Given the description of an element on the screen output the (x, y) to click on. 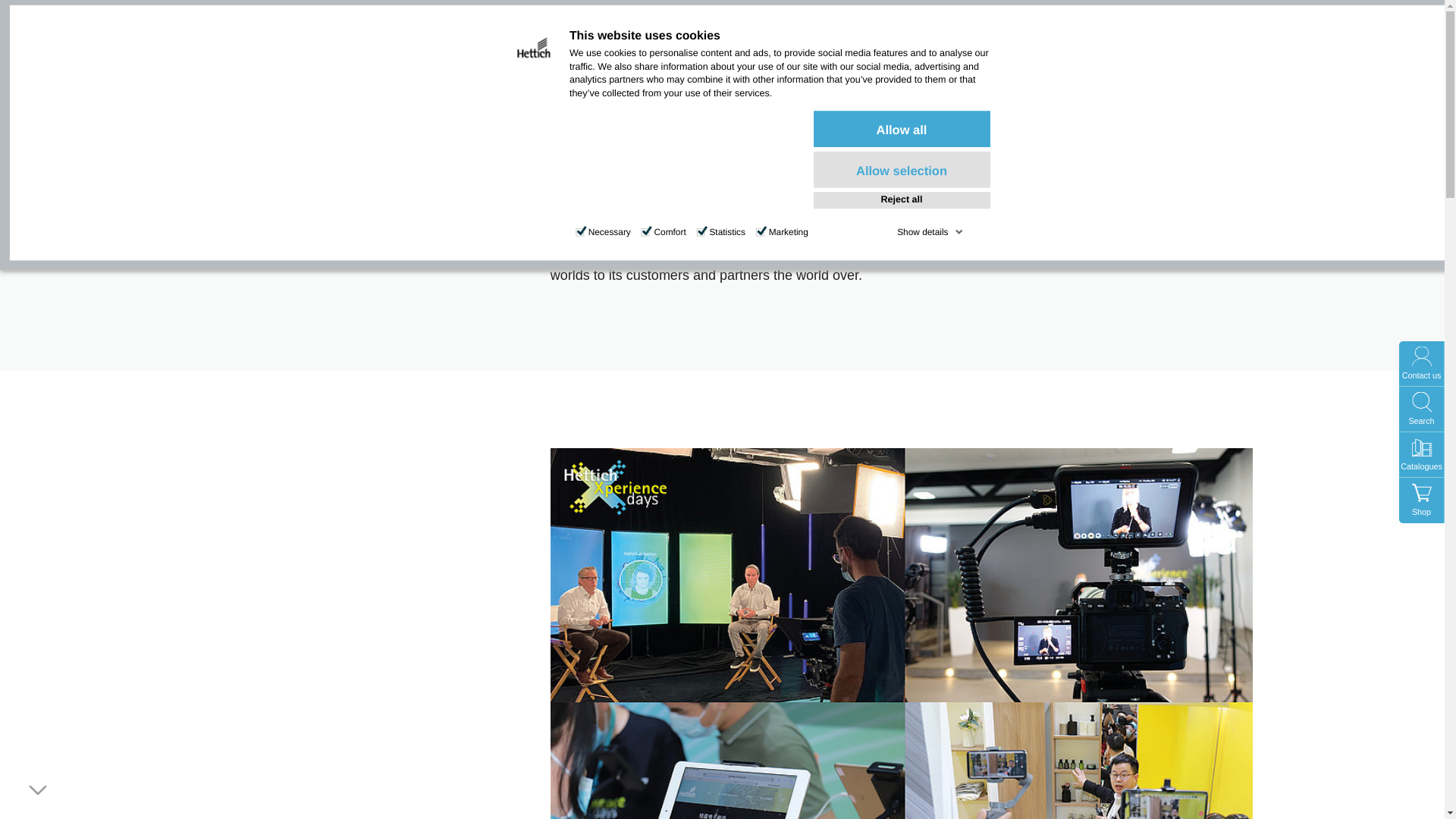
Reject all (902, 199)
Show details (929, 232)
Allow all (902, 128)
Allow selection (902, 169)
